Given the description of an element on the screen output the (x, y) to click on. 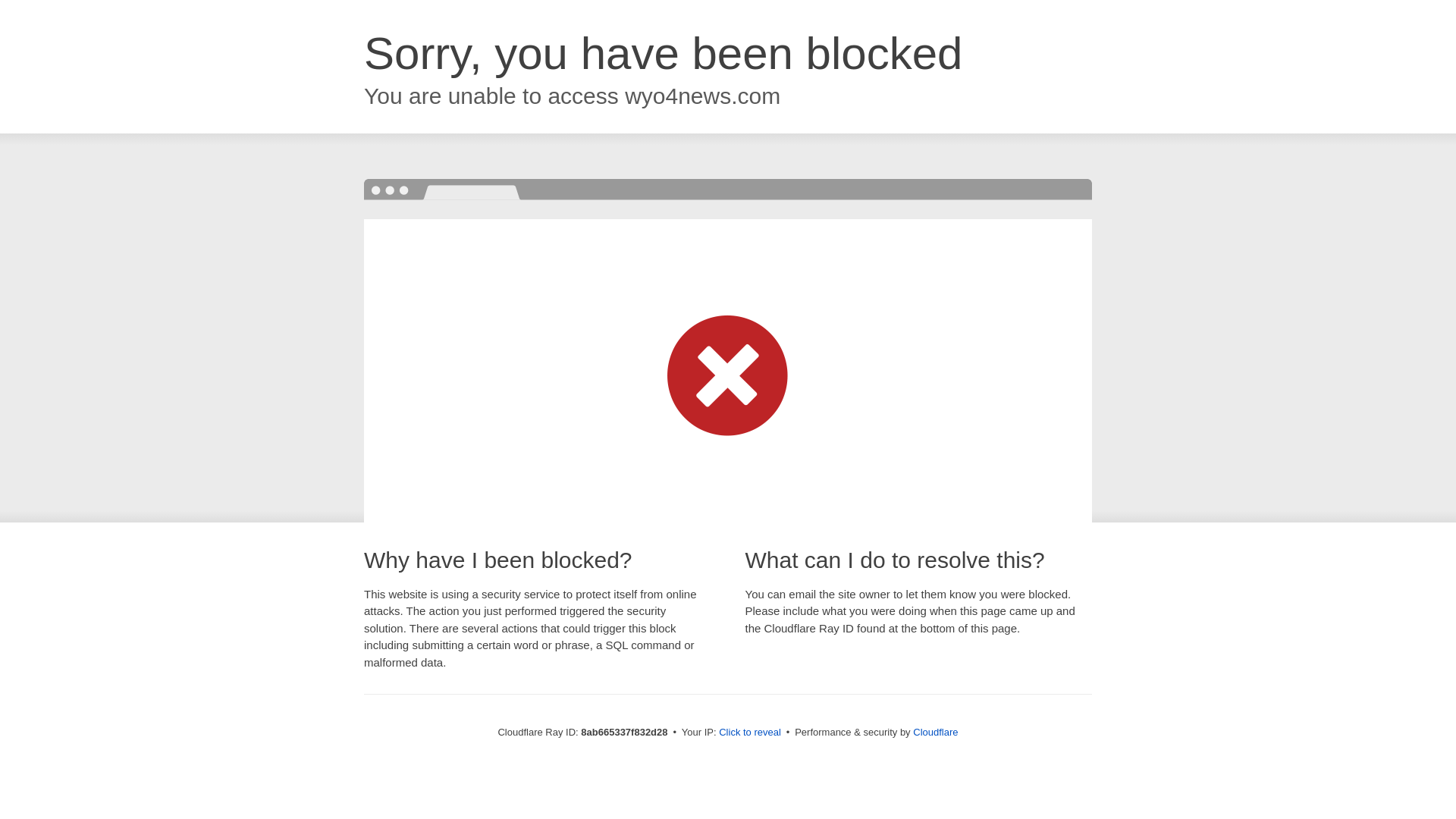
Cloudflare (935, 731)
Click to reveal (749, 732)
